Given the description of an element on the screen output the (x, y) to click on. 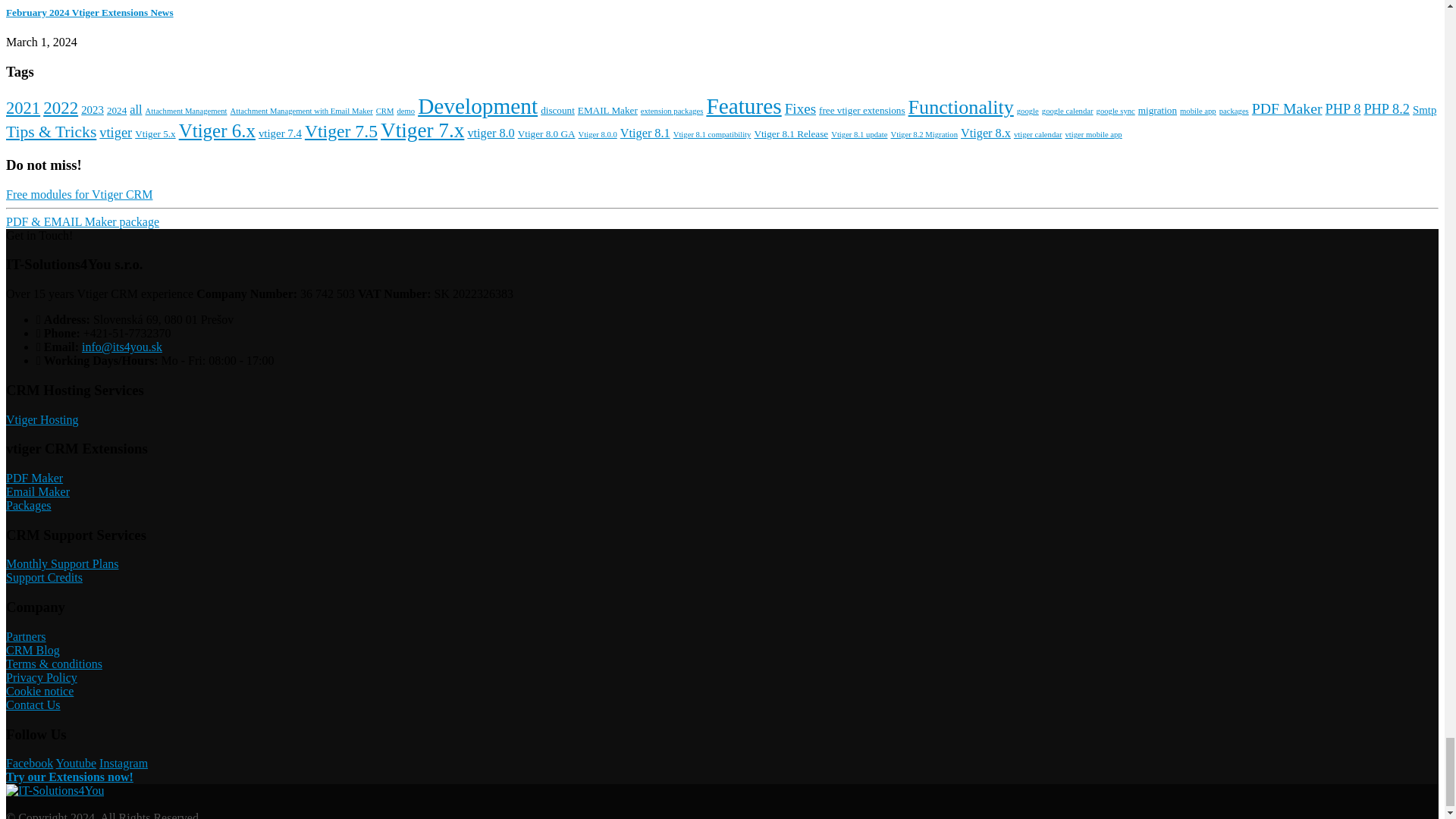
Instagram (123, 762)
Facebook (28, 762)
Youtube (76, 762)
